Given the description of an element on the screen output the (x, y) to click on. 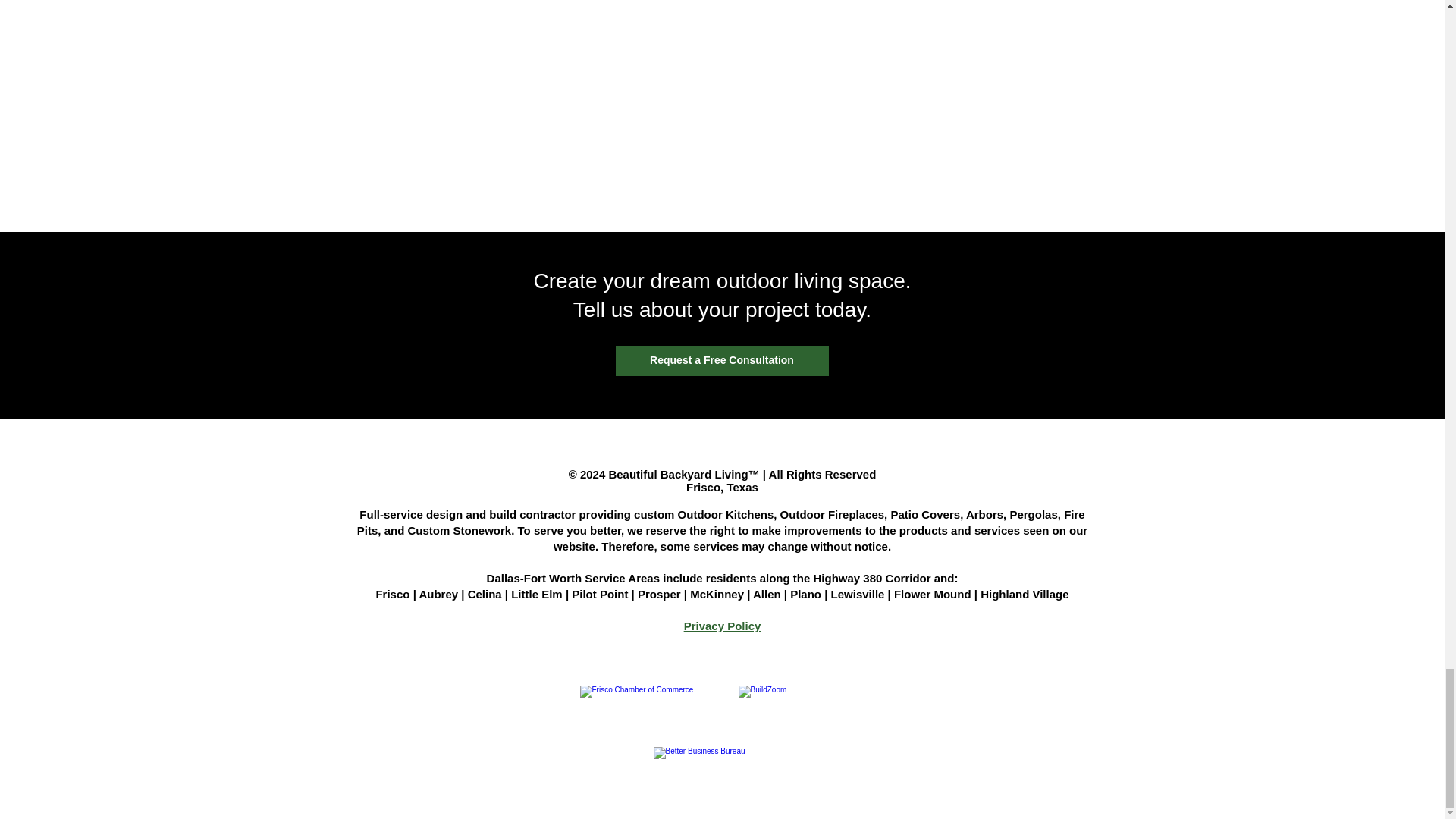
Privacy Policy (722, 625)
Frisco Chambe of Commerce (650, 709)
BuildZoom (795, 709)
10FORYOU (721, 657)
Request a Free Consultation (721, 360)
Better Business Bureau (721, 770)
